Given the description of an element on the screen output the (x, y) to click on. 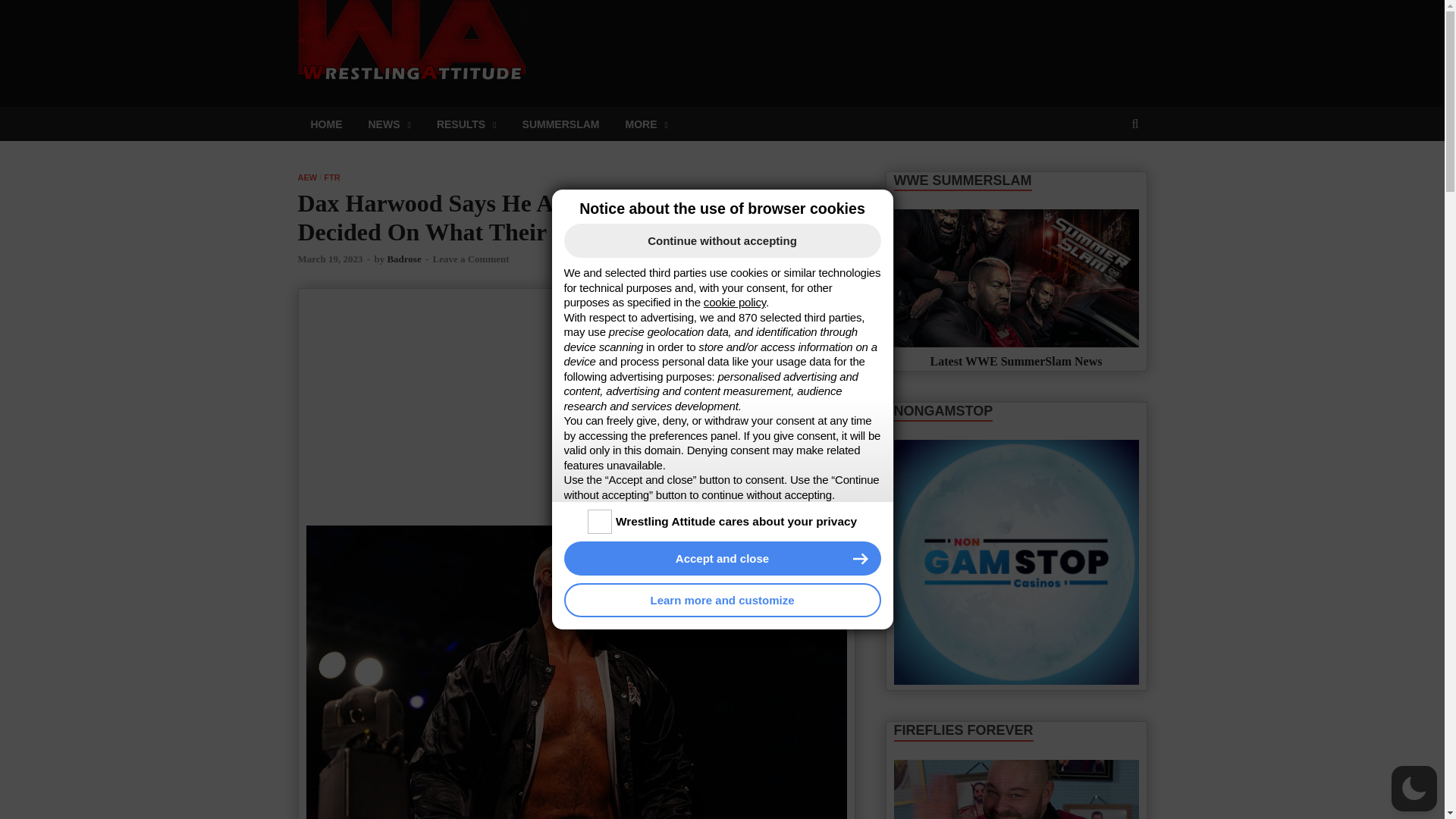
Non Gamstop Casinos (1015, 561)
Wrestling Attitude (645, 27)
WWE SummerSlam (1015, 278)
MORE (645, 123)
SUMMERSLAM (560, 123)
RESULTS (466, 123)
HOME (326, 123)
NEWS (389, 123)
